Given the description of an element on the screen output the (x, y) to click on. 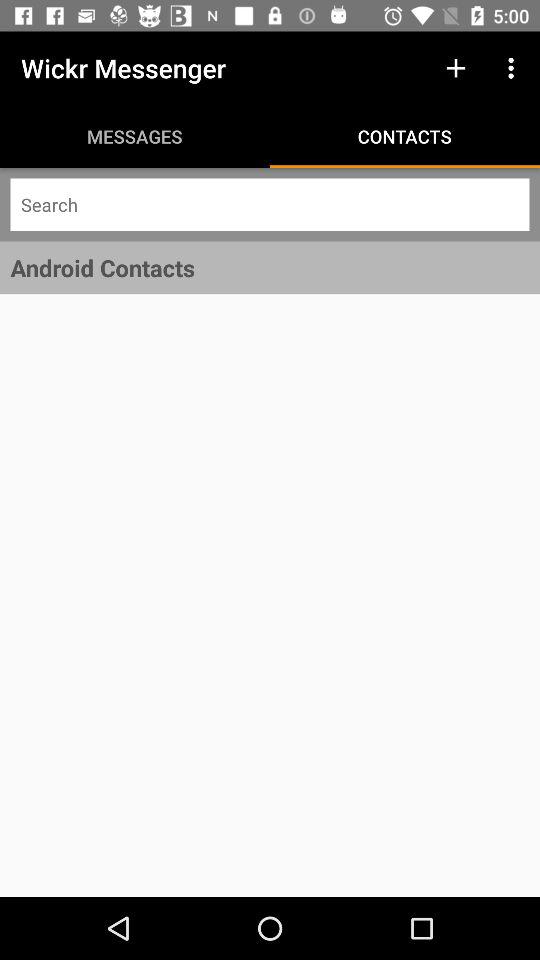
tap app to the right of wickr messenger item (455, 67)
